Given the description of an element on the screen output the (x, y) to click on. 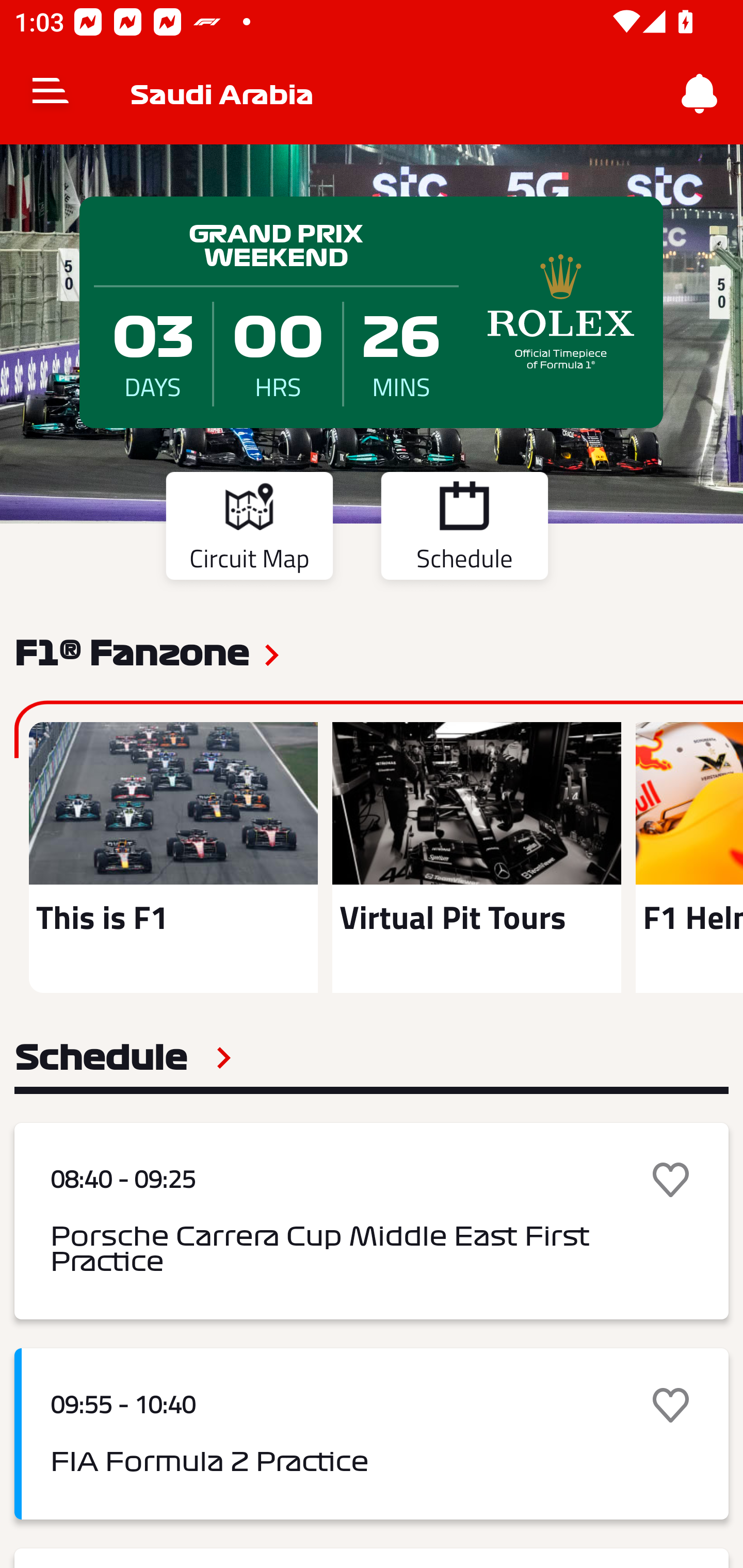
Navigate up (50, 93)
Notifications (699, 93)
Circuit Map (249, 528)
Schedule (464, 528)
F1® Fanzone (131, 651)
This is F1 (173, 857)
Virtual Pit Tours (476, 857)
Schedule (122, 1057)
09:55 - 10:40 FIA Formula 2 Practice (371, 1433)
